Given the description of an element on the screen output the (x, y) to click on. 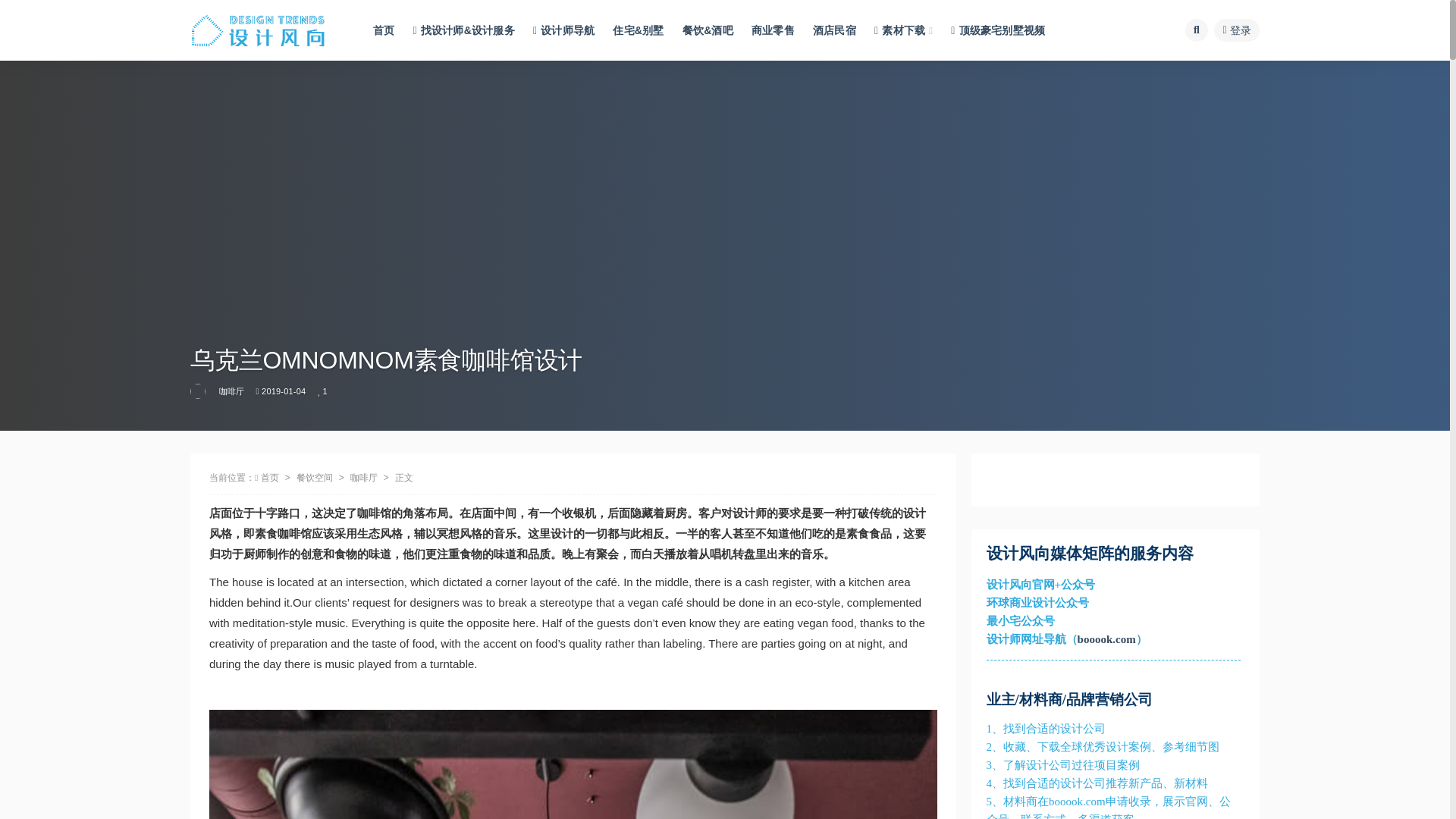
JANE (199, 391)
